Given the description of an element on the screen output the (x, y) to click on. 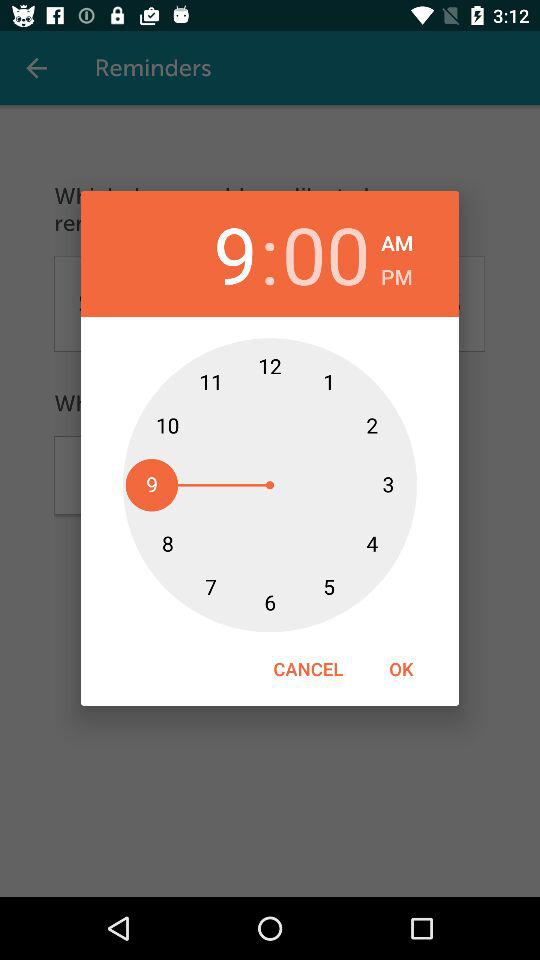
open the pm item (396, 273)
